Given the description of an element on the screen output the (x, y) to click on. 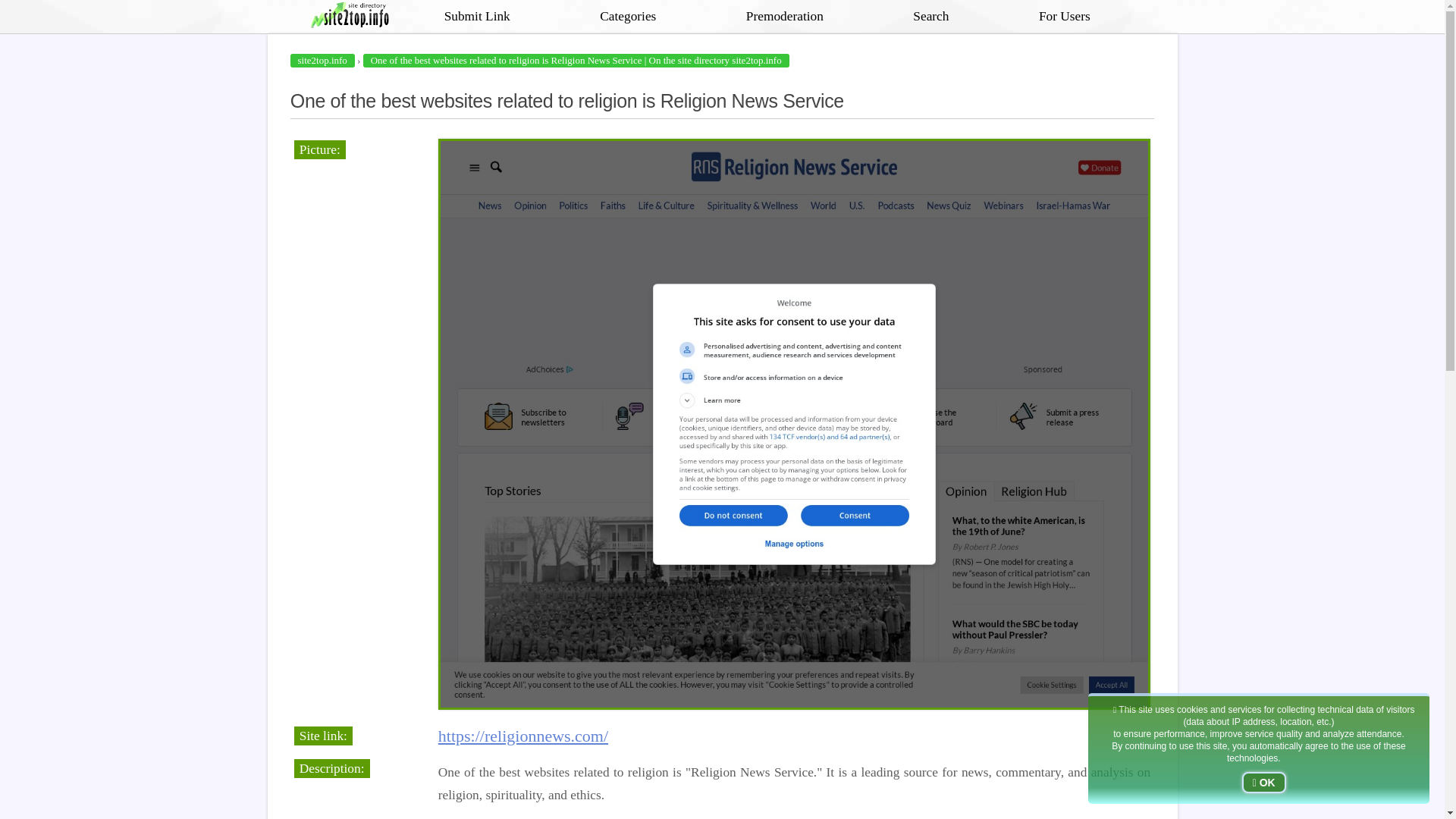
Submit a new link to the site directory Site2Top.info (477, 16)
Categories (627, 16)
Search (931, 16)
Premoderation (784, 16)
Submit Link (477, 16)
List of sites on Premoderation (784, 16)
For Users (1064, 16)
Go to the Start page (354, 16)
See the list of site directory categories (627, 16)
site2top.info (321, 60)
